Given the description of an element on the screen output the (x, y) to click on. 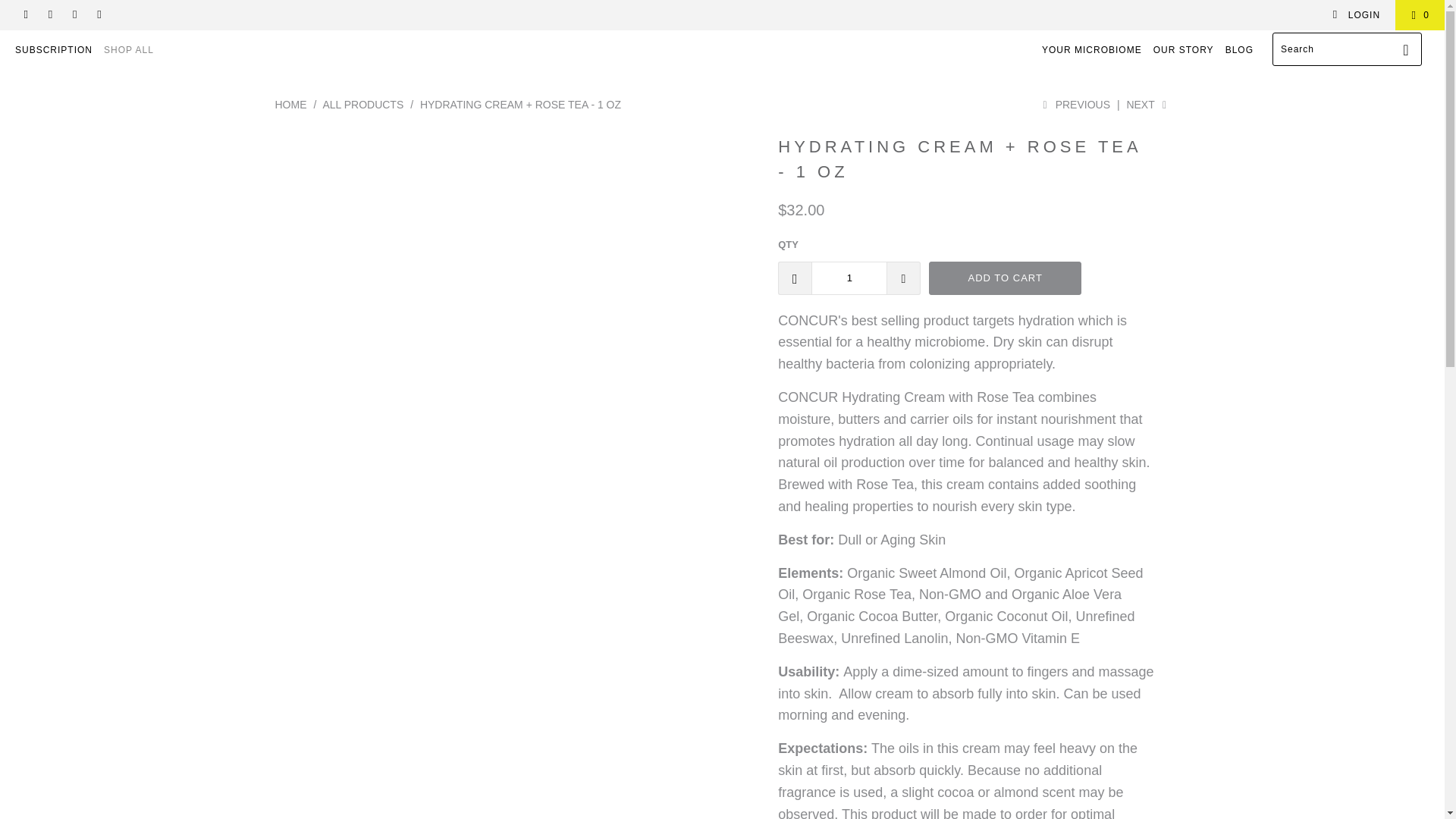
CONCUR (290, 104)
PREVIOUS (1073, 104)
Next (1147, 104)
YOUR MICROBIOME (1091, 50)
SUBSCRIPTION (53, 50)
NEXT (1147, 104)
LOGIN (1355, 15)
SHOP ALL (128, 50)
All Products (362, 104)
HOME (290, 104)
